Given the description of an element on the screen output the (x, y) to click on. 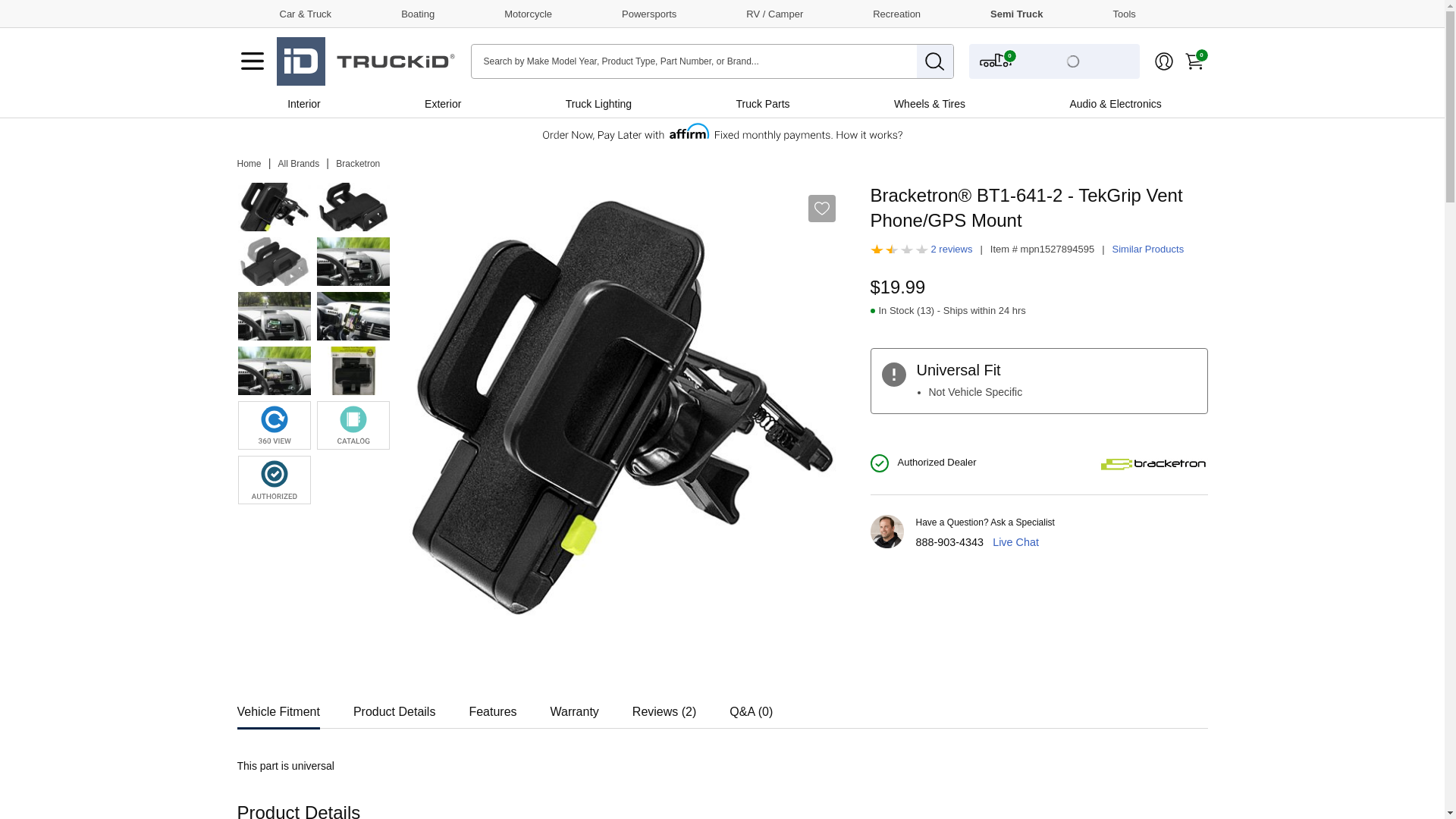
Motorcycle (514, 13)
All Brands (299, 163)
Boating (403, 13)
Interior (304, 103)
Vehicle Fitment (276, 706)
Vehicle Fitment (276, 706)
2 reviews (951, 248)
Truck Parts (762, 103)
Product Details (394, 706)
Product Details (394, 706)
